Given the description of an element on the screen output the (x, y) to click on. 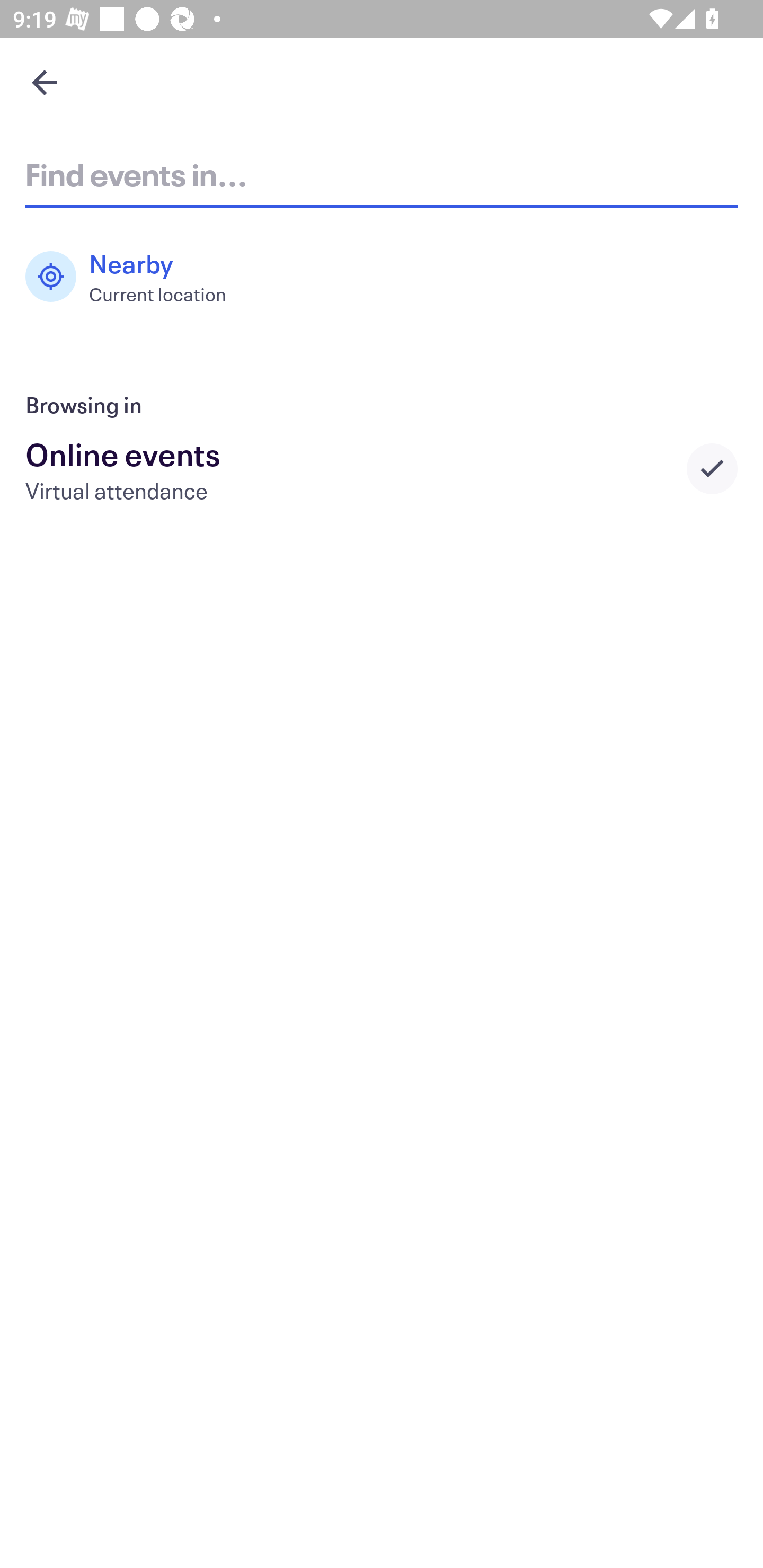
Navigate up (44, 82)
Find events in... (381, 173)
Nearby Current location (135, 276)
Online events Virtual attendance Selected city (381, 468)
